Given the description of an element on the screen output the (x, y) to click on. 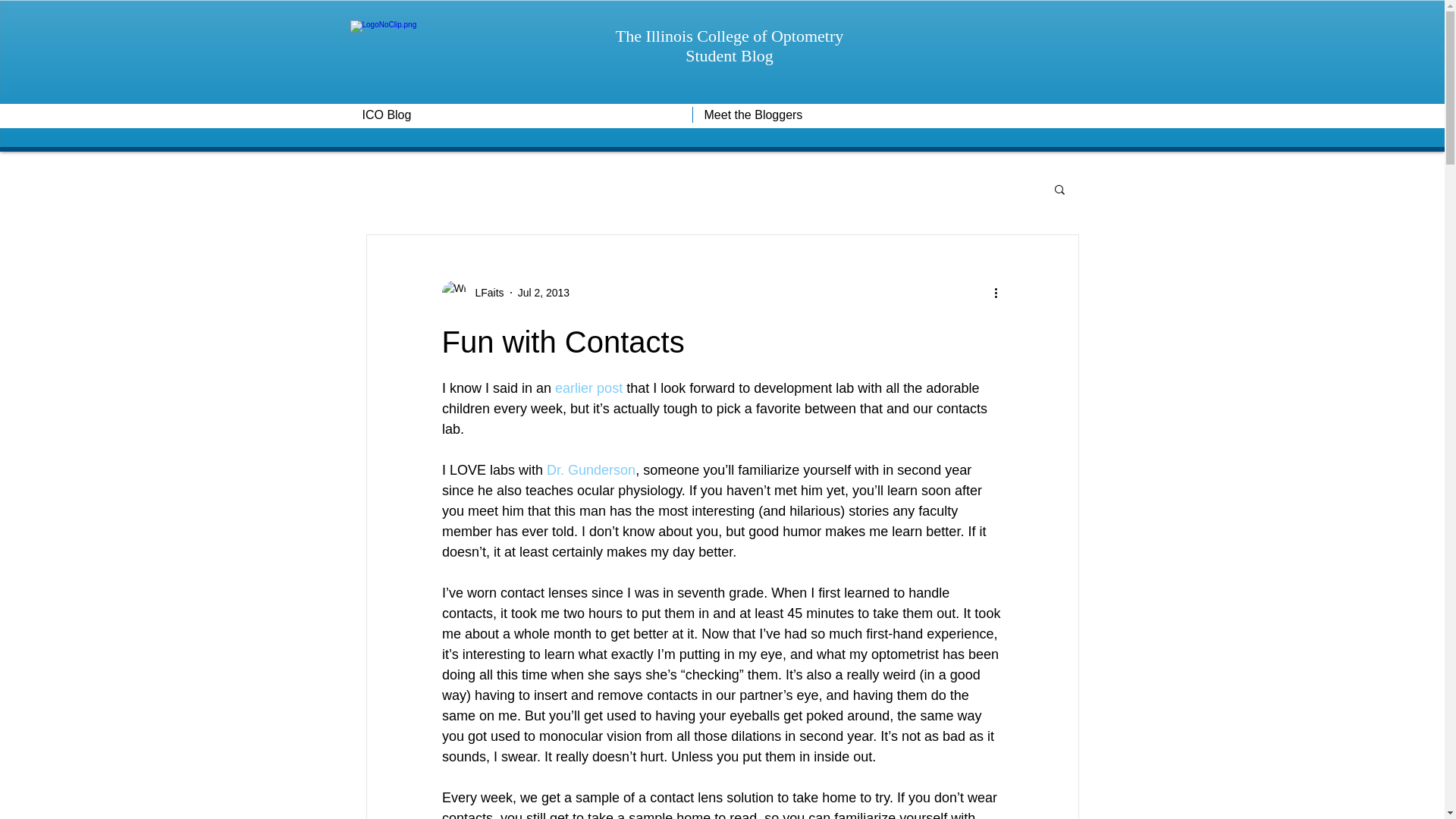
Meet the Bloggers (891, 114)
LFaits (484, 293)
Jul 2, 2013 (544, 292)
ICO Blog (520, 114)
Dr. Gunderson (590, 469)
earlier post (588, 387)
